Given the description of an element on the screen output the (x, y) to click on. 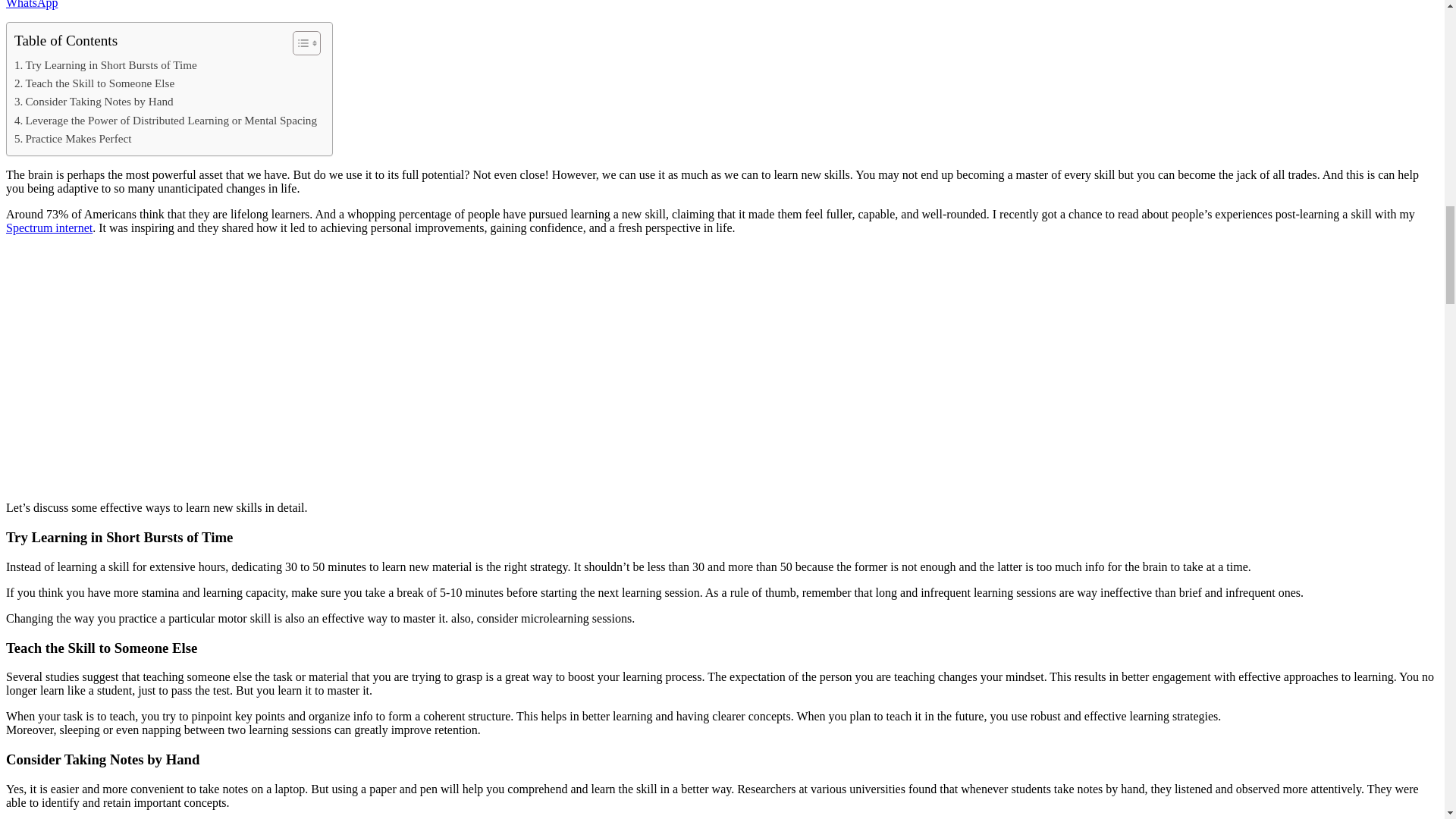
Teach the Skill to Someone Else (94, 83)
Leverage the Power of Distributed Learning or Mental Spacing (165, 120)
Consider Taking Notes by Hand (93, 101)
Try Learning in Short Bursts of Time (105, 65)
